Given the description of an element on the screen output the (x, y) to click on. 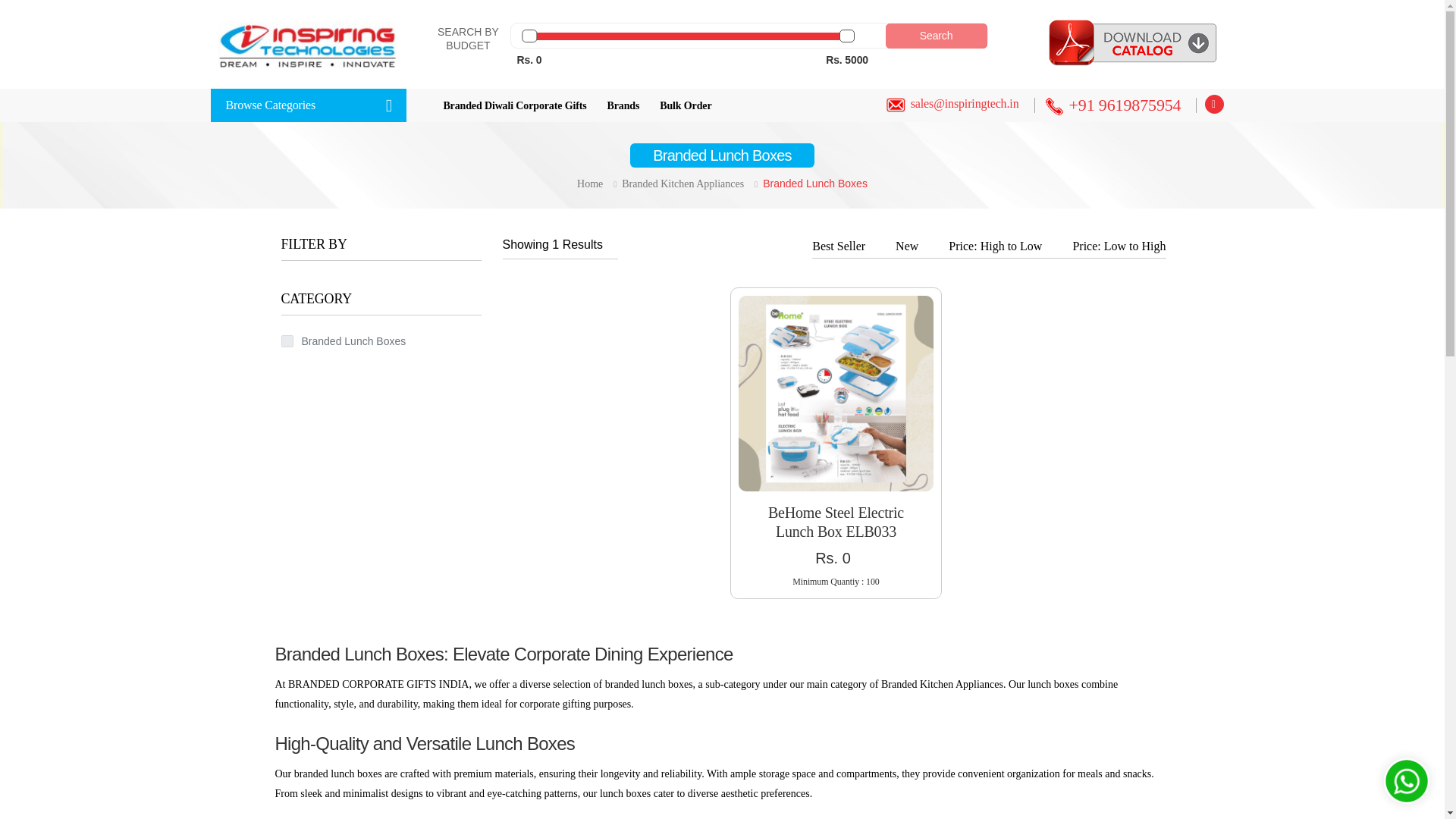
Search (1214, 104)
Browse Categories (308, 105)
Search (936, 35)
Browse Categories (308, 105)
BeHome Steel Electric Lunch Box ELB033 (836, 393)
